Given the description of an element on the screen output the (x, y) to click on. 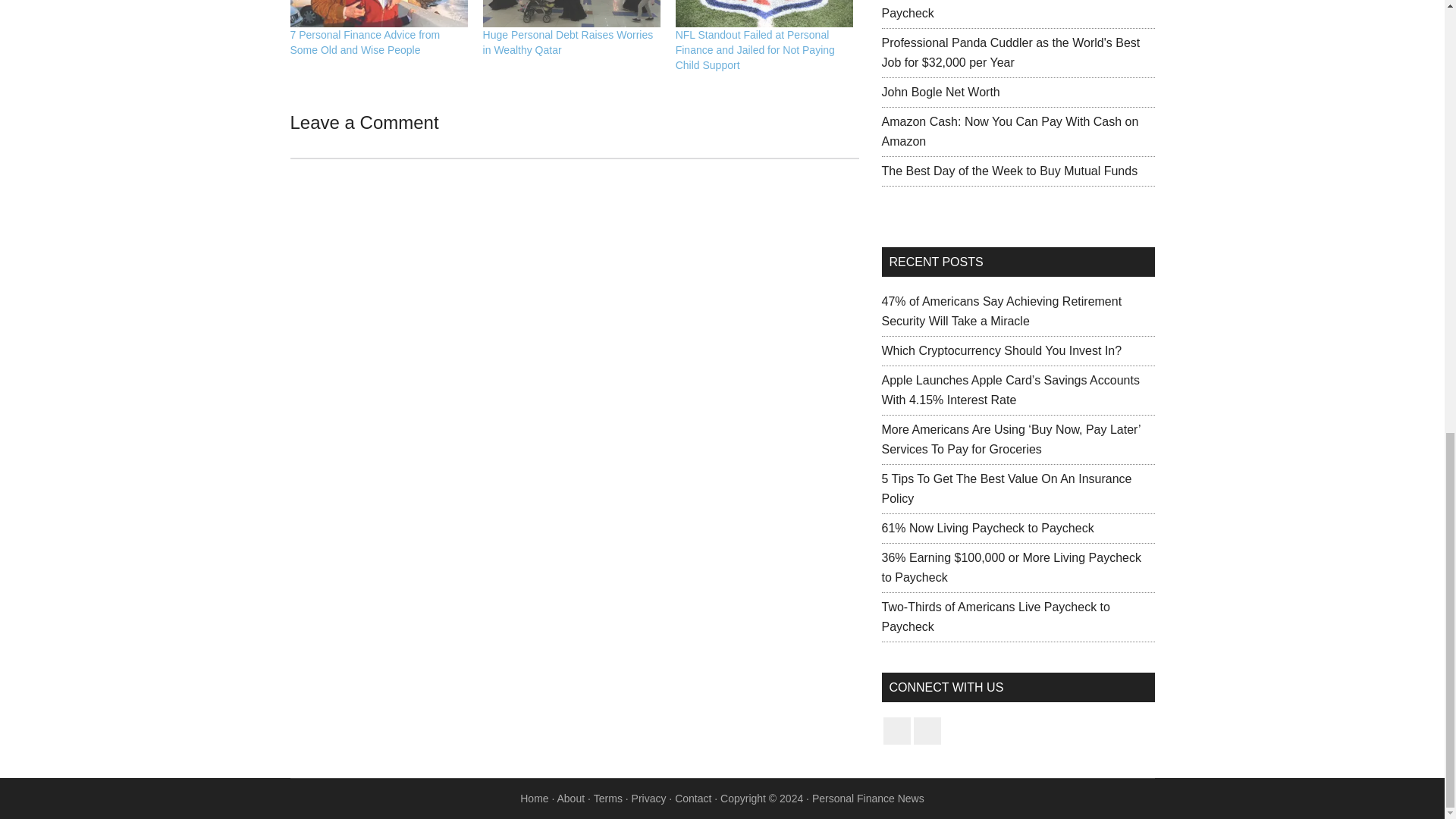
7 Personal Finance Advice from Some Old and Wise People (378, 13)
7 Personal Finance Advice from Some Old and Wise People (364, 42)
Huge Personal Debt Raises Worries in Wealthy Qatar (568, 42)
Huge Personal Debt Raises Worries in Wealthy Qatar (572, 13)
7 Personal Finance Advice from Some Old and Wise People (364, 42)
Two-Thirds of Americans Live Paycheck to Paycheck (994, 9)
Huge Personal Debt Raises Worries in Wealthy Qatar (568, 42)
